Given the description of an element on the screen output the (x, y) to click on. 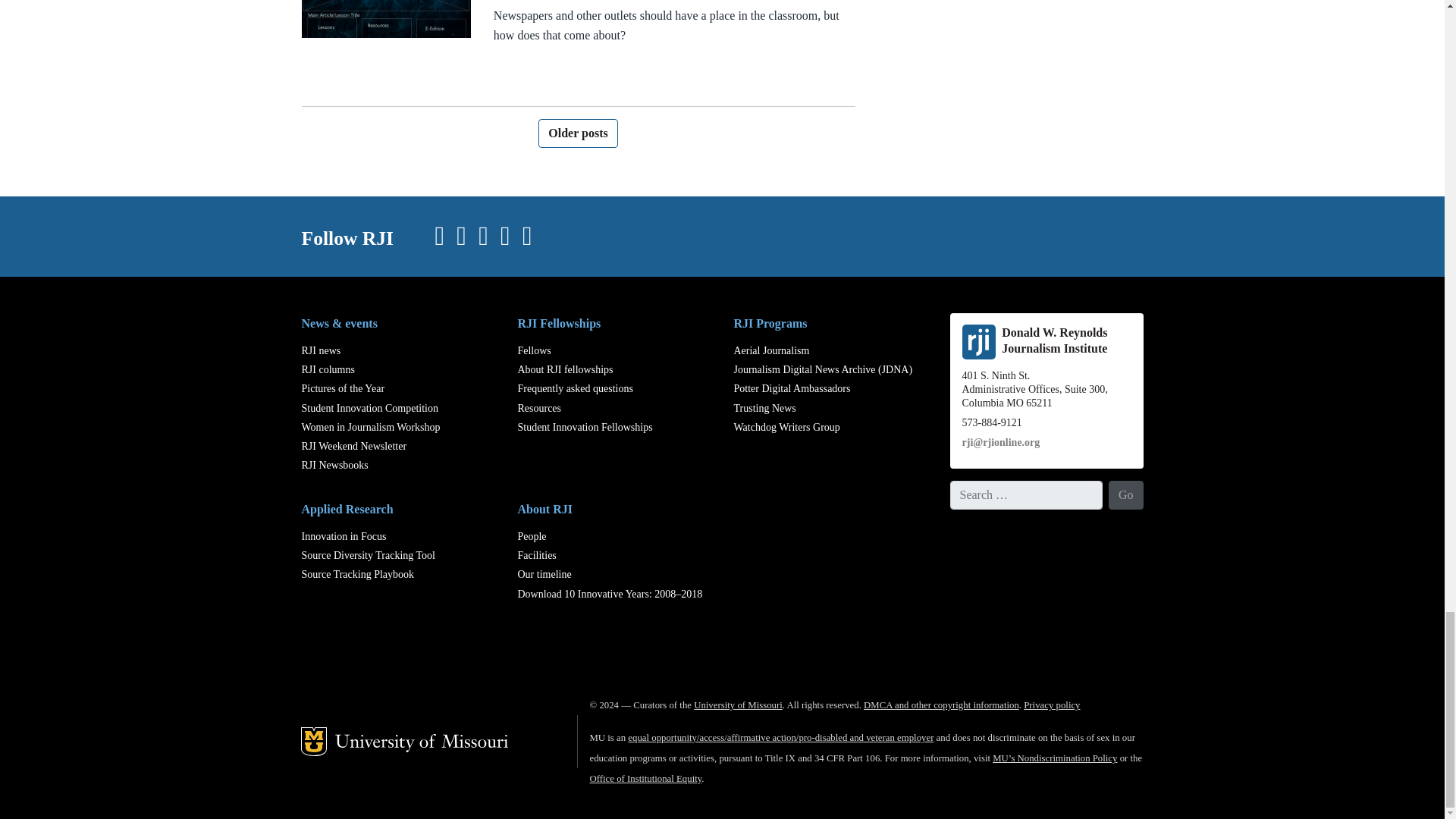
Go (1125, 494)
Go (1125, 494)
